Given the description of an element on the screen output the (x, y) to click on. 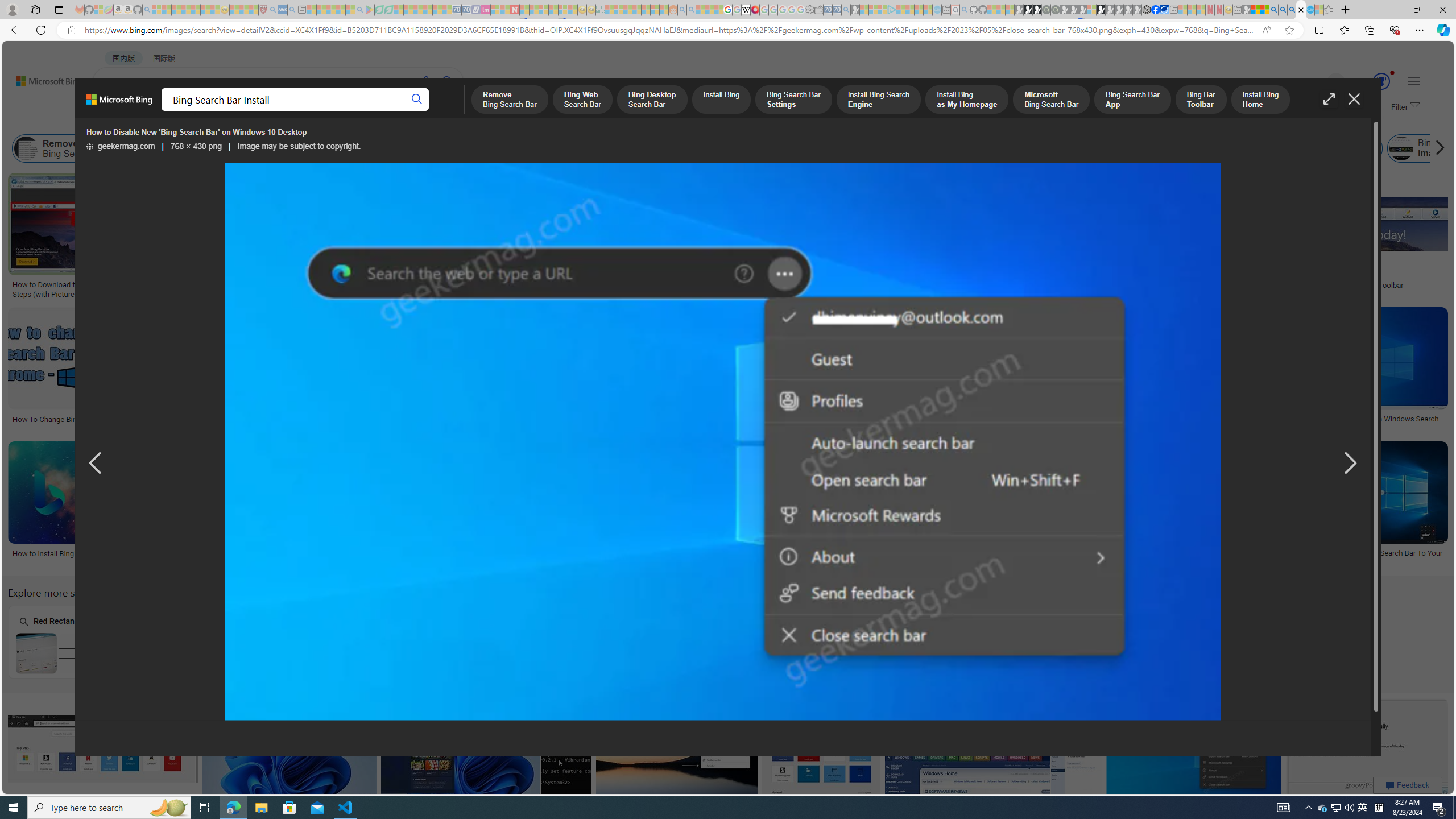
Install Bing (367, 148)
Image result for Bing Search Bar Install (1366, 748)
How to Use Bing Visual Search on Windows Search Bar (436, 557)
2009 Bing officially replaced Live Search on June 3 - Search (1283, 9)
Target page - Wikipedia (745, 9)
Install Bing as My Homepage (710, 148)
Microsoft Rewards 84 (1370, 81)
